Given the description of an element on the screen output the (x, y) to click on. 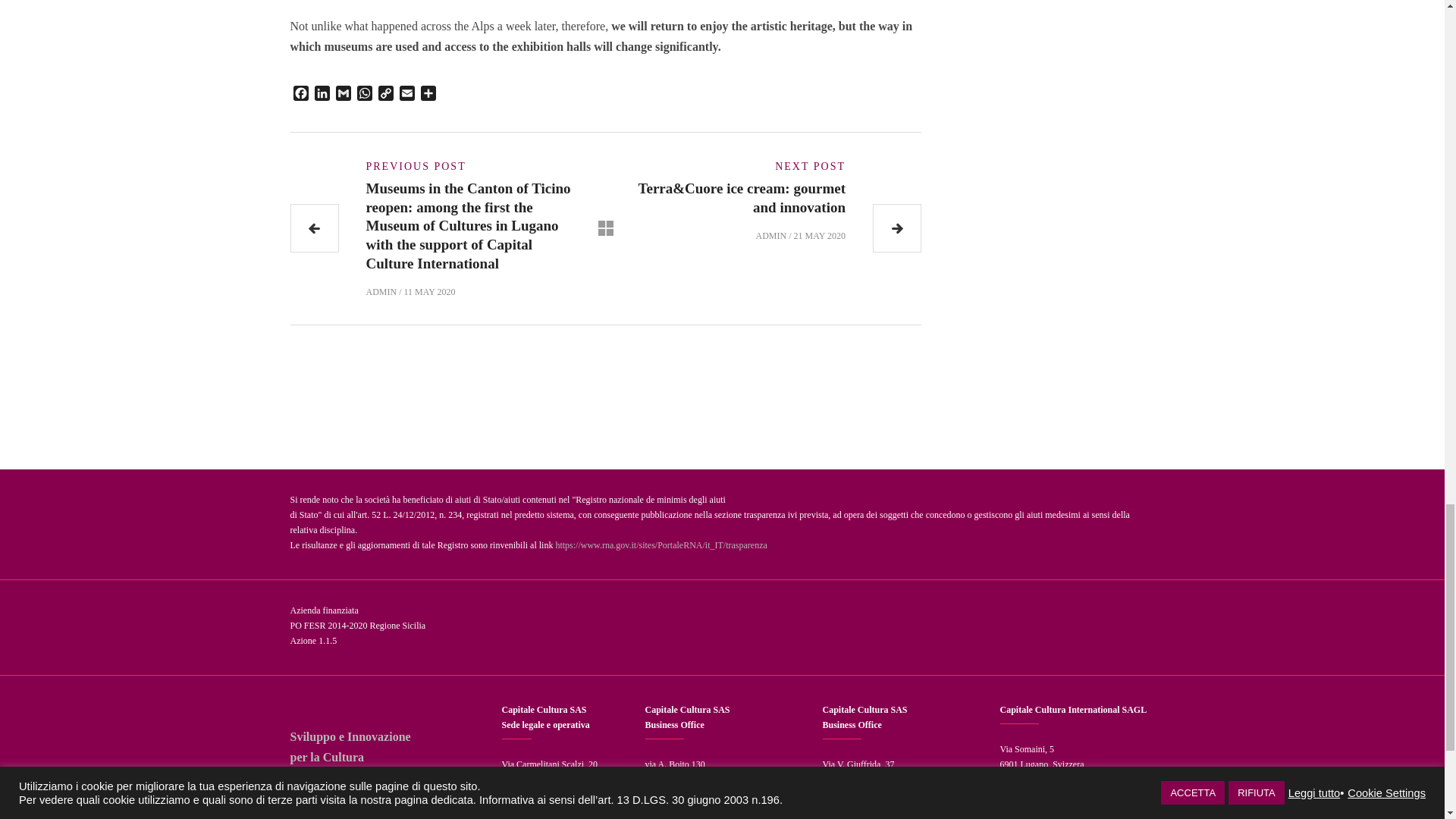
Gmail (342, 94)
Email (406, 94)
LinkedIn (321, 94)
Facebook (300, 94)
WhatsApp (363, 94)
Copy Link (385, 94)
Facebook (300, 94)
Copy Link (385, 94)
ADMIN (380, 291)
Gmail (342, 94)
